Given the description of an element on the screen output the (x, y) to click on. 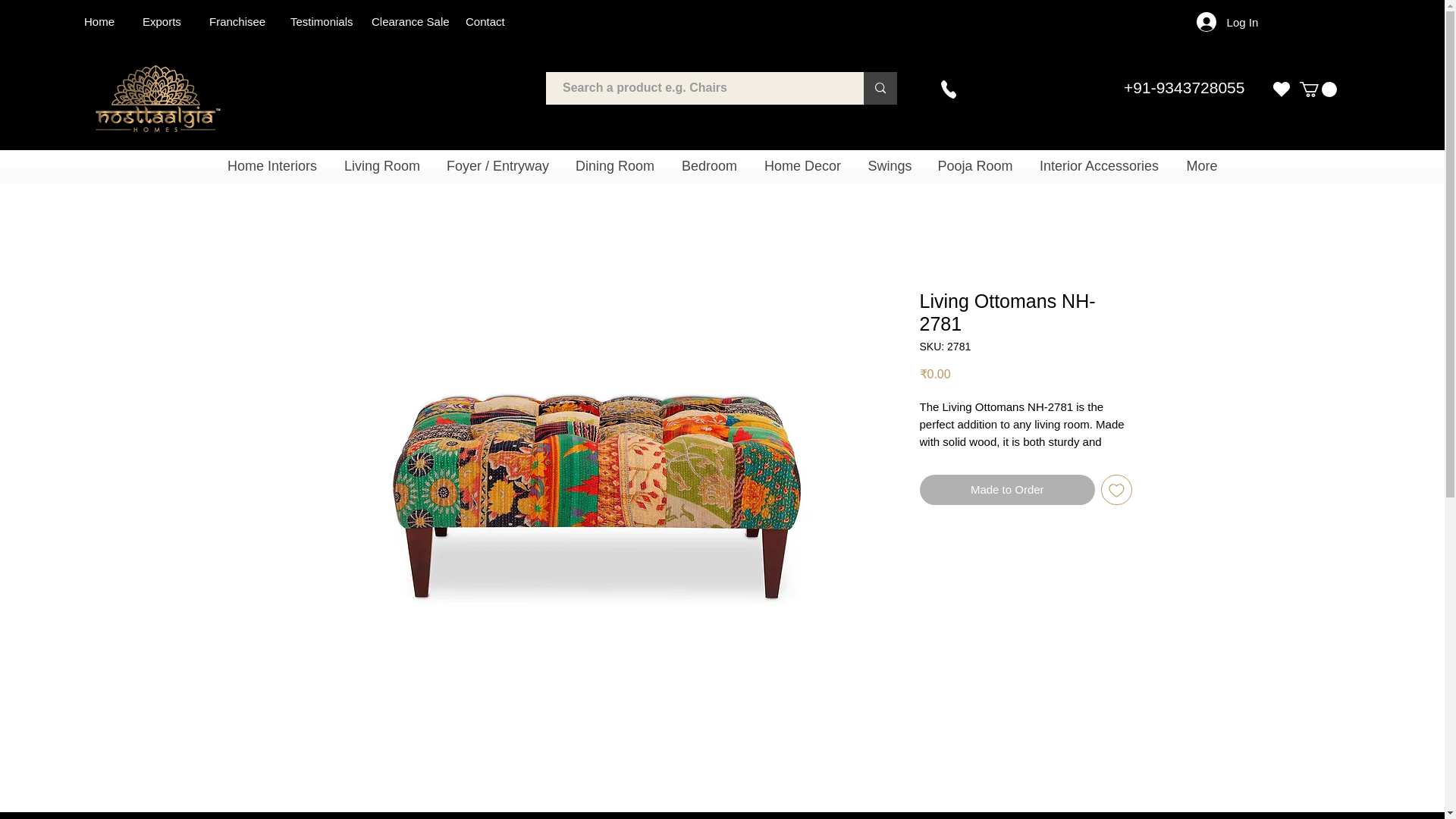
Home Interiors (272, 165)
Exports (161, 21)
Contact (485, 21)
Clearance Sale (410, 21)
Log In (1227, 21)
Testimonials (321, 21)
Franchisee (236, 21)
Home (99, 21)
Dining Room (613, 165)
Living Room (381, 165)
